Given the description of an element on the screen output the (x, y) to click on. 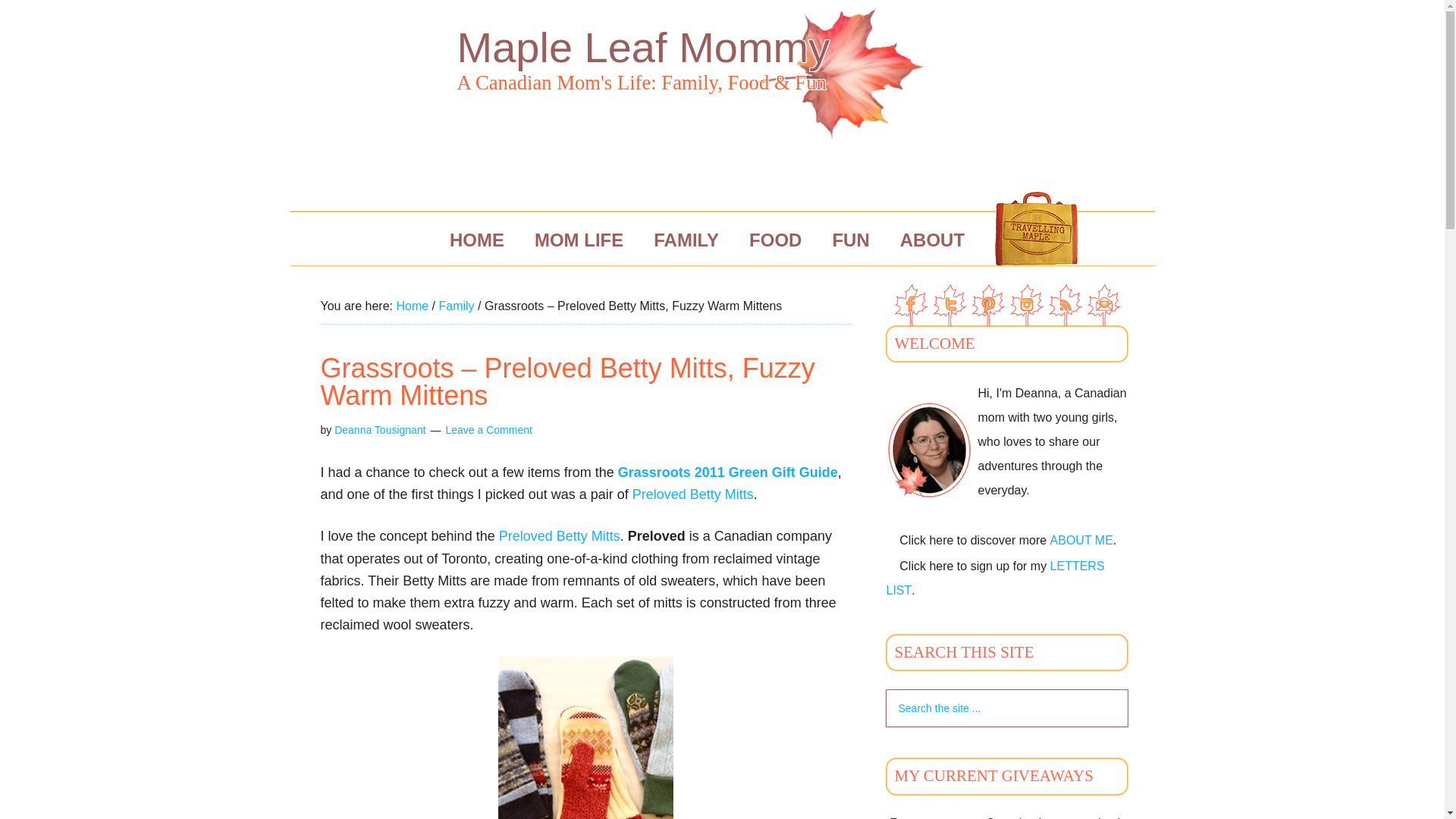
MOM LIFE (579, 240)
Preloved Betty Mitts (692, 494)
Maple Leaf Mommy (643, 47)
ABOUT (932, 240)
Preloved Betty Mitts (559, 535)
Home (412, 305)
Grassroots 2011 Green Gift Guide (727, 472)
Leave a Comment (488, 429)
FAMILY (686, 240)
